Given the description of an element on the screen output the (x, y) to click on. 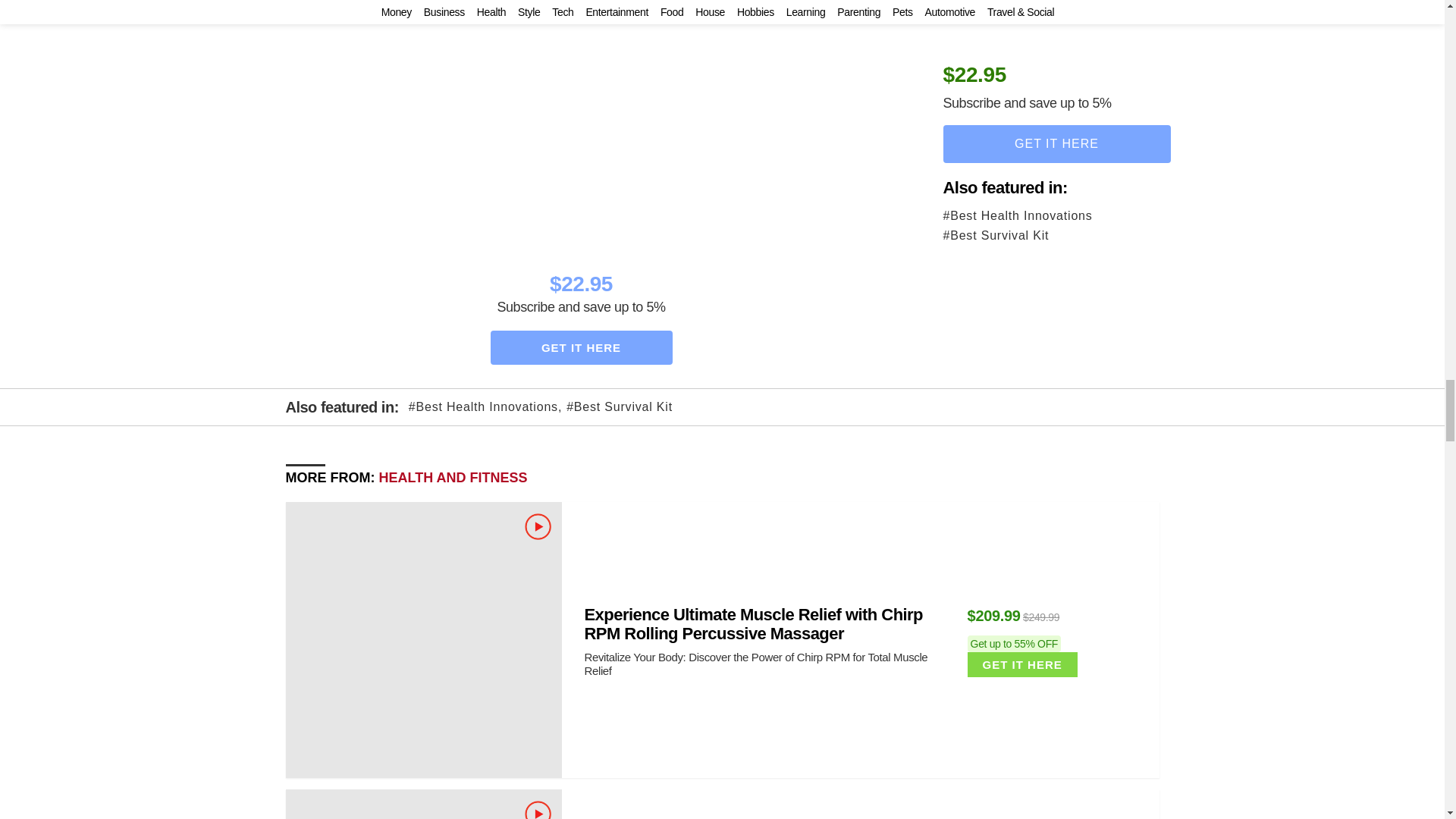
The LARQ Bottle: The Future of Hydration (422, 804)
GET IT HERE (580, 347)
Best Health Innovations, (485, 406)
Best Survival Kit (619, 406)
